Given the description of an element on the screen output the (x, y) to click on. 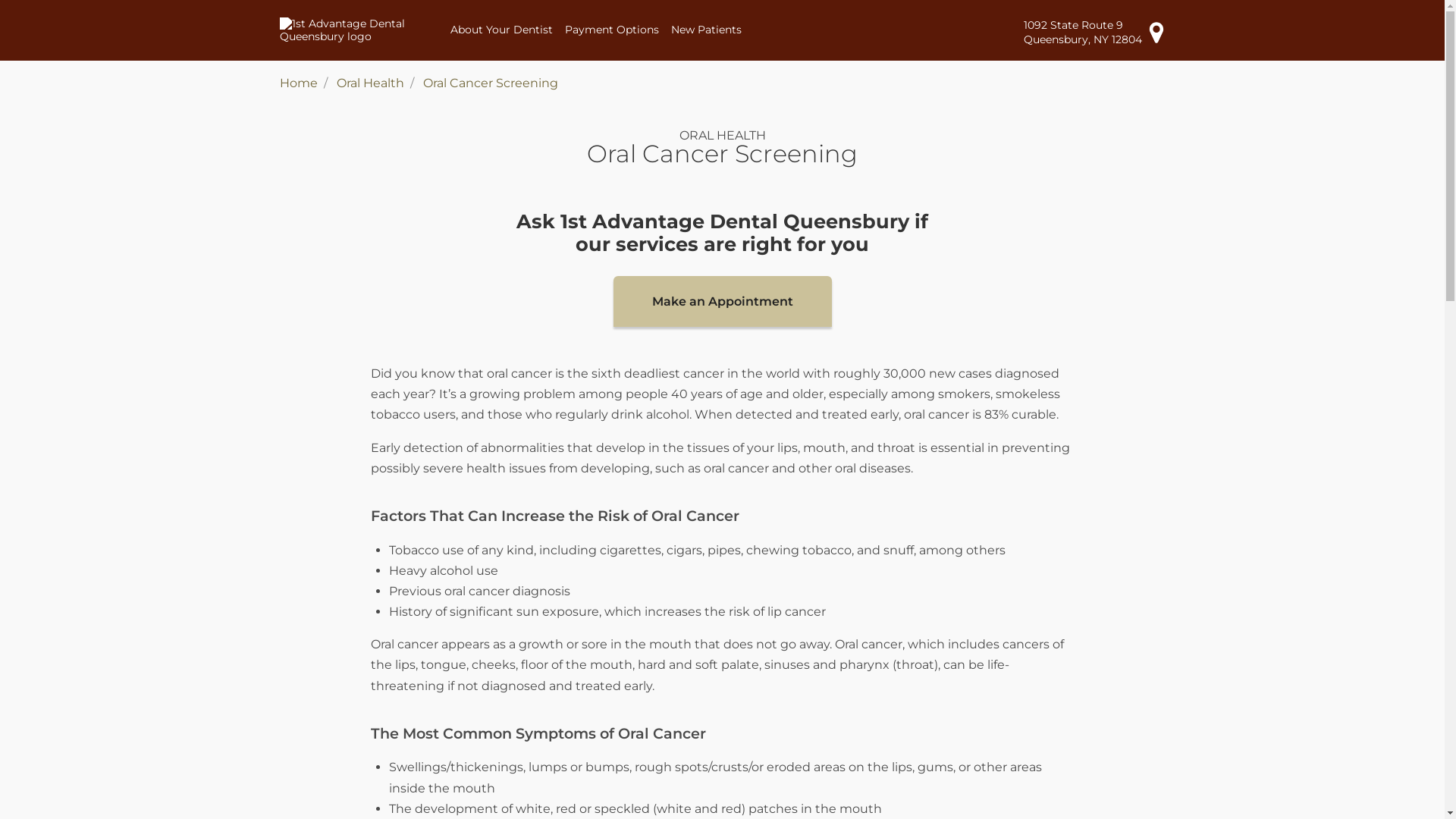
New Patients Element type: text (706, 29)
Oral Health Element type: text (370, 82)
Make an Appointment Element type: text (721, 301)
Oral Cancer Screening Element type: text (490, 82)
About Your Dentist Element type: text (501, 29)
Home Element type: text (297, 82)
1092 State Route 9
Queensbury, NY 12804 Element type: text (1094, 31)
Payment Options Element type: text (611, 29)
